Given the description of an element on the screen output the (x, y) to click on. 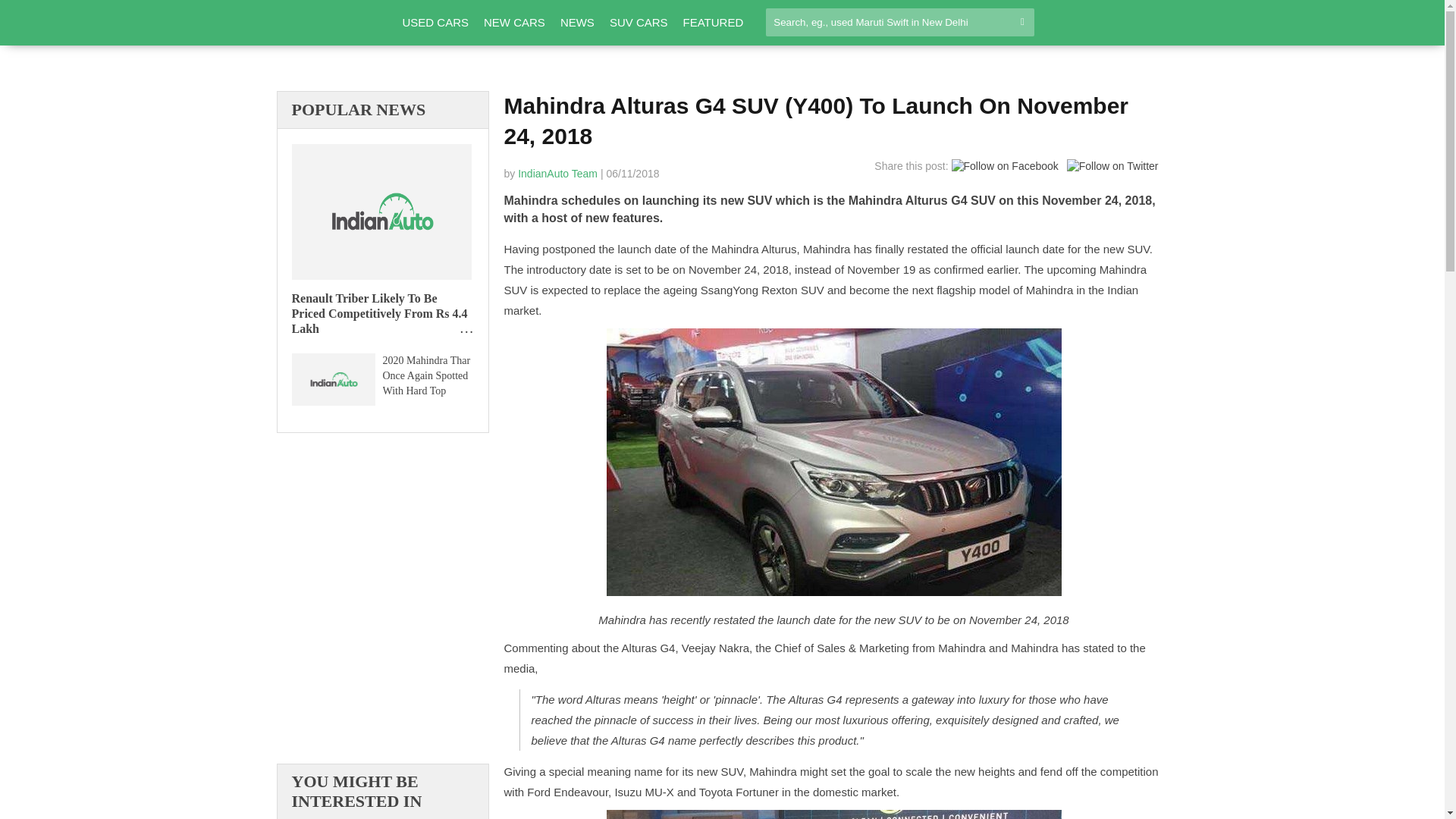
FEATURED (713, 22)
NEW CARS (513, 22)
USED CARS (434, 22)
SUV CARS (639, 22)
2020 Mahindra Thar Once Again Spotted With Hard Top (424, 374)
2020 Mahindra Thar Once Again Spotted With Hard Top (332, 381)
